Given the description of an element on the screen output the (x, y) to click on. 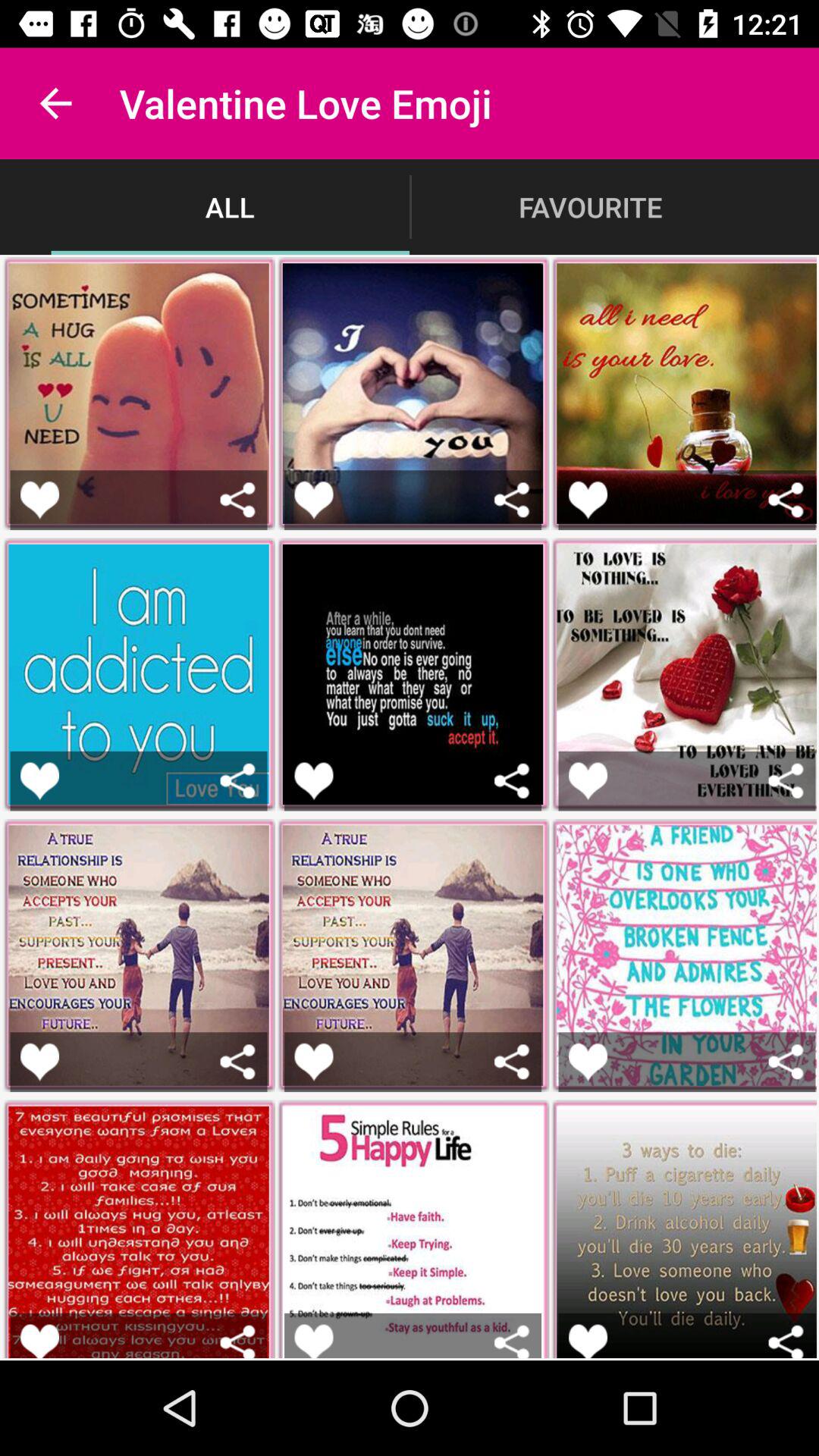
tap the app next to valentine love emoji (55, 103)
